Given the description of an element on the screen output the (x, y) to click on. 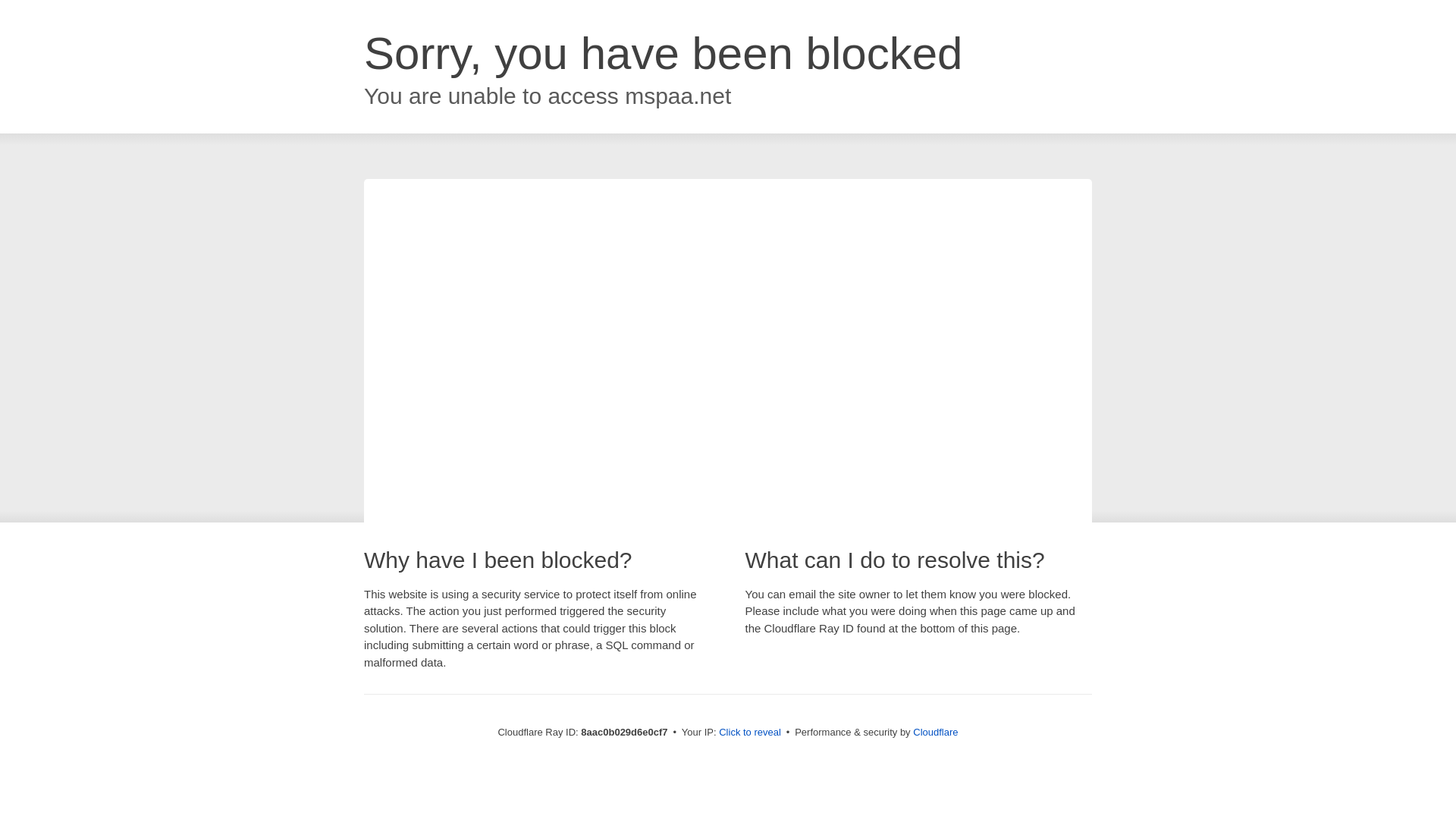
Click to reveal (749, 732)
Cloudflare (935, 731)
